Given the description of an element on the screen output the (x, y) to click on. 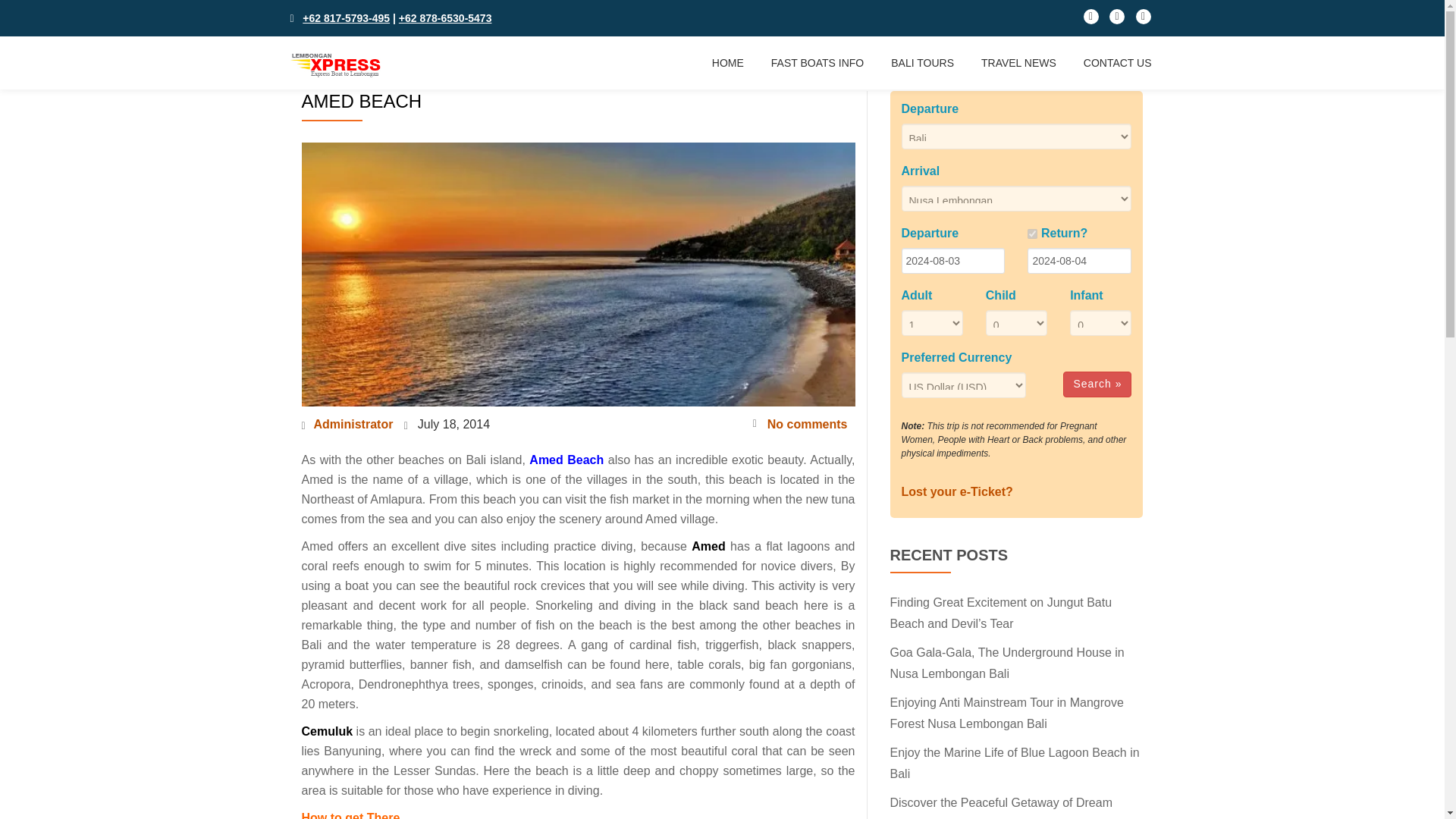
Goa Gala-Gala, The Underground House in Nusa Lembongan Bali (1006, 663)
FAST BOATS INFO (817, 62)
fa-google-plus-square (1143, 19)
HOME (727, 62)
2024-08-03 (952, 260)
Discover the Peaceful Getaway of Dream Beach (1000, 807)
TRAVEL NEWS (1019, 62)
Lost your e-Ticket? (956, 491)
No comments (799, 424)
Lembongan Express (337, 62)
fa-twitter (1116, 19)
on (1031, 234)
fa-facebook (1091, 19)
CONTACT US (1117, 62)
